Given the description of an element on the screen output the (x, y) to click on. 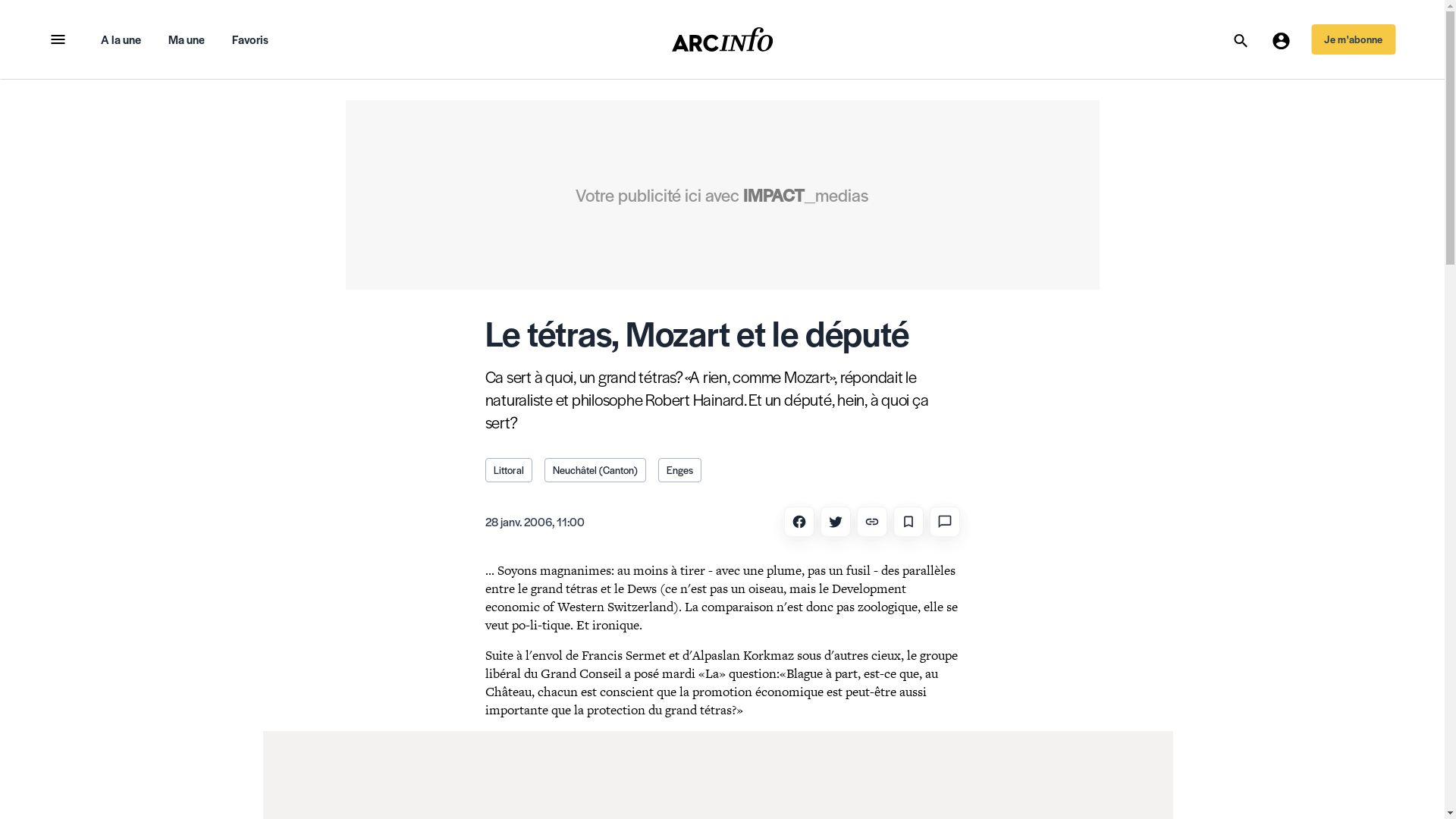
Ma une Element type: text (186, 39)
Je m'abonne Element type: text (1353, 39)
Accueil Element type: hover (722, 39)
Enges Element type: text (679, 470)
Littoral Element type: text (508, 470)
A la une Element type: text (120, 39)
Favoris Element type: text (250, 39)
